Given the description of an element on the screen output the (x, y) to click on. 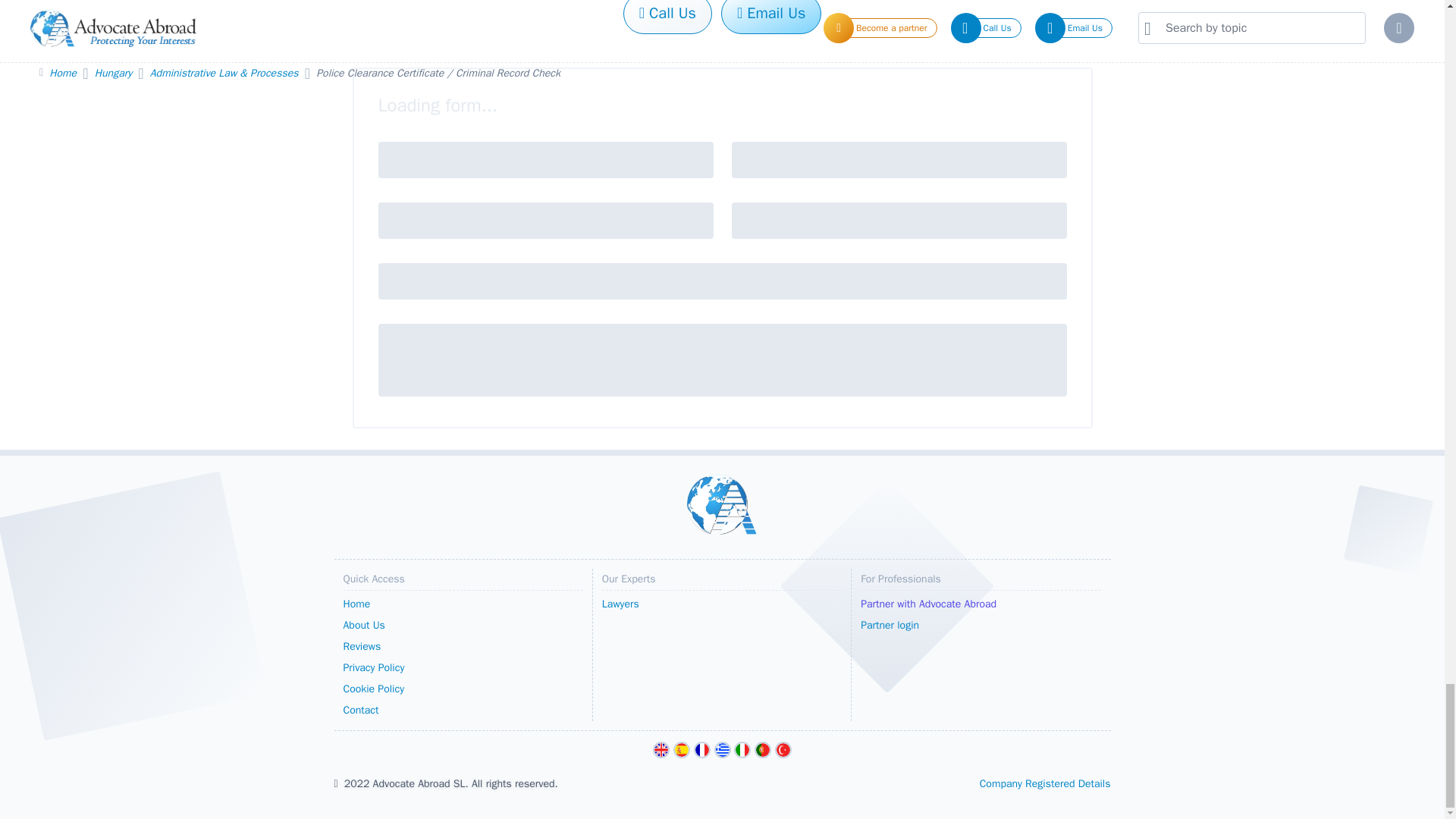
Lawyers (721, 604)
Lawyers in Hungary (721, 604)
Company Registered Details (1044, 783)
Partner with Advocate Abroad (980, 604)
Partner login (980, 625)
Spanish (681, 750)
Contact (462, 710)
Home (462, 604)
About Us (462, 625)
Reviews (462, 646)
Portuguese (762, 750)
Cookie Policy (462, 689)
Turkish (783, 750)
Privacy Policy (462, 667)
English (660, 750)
